Given the description of an element on the screen output the (x, y) to click on. 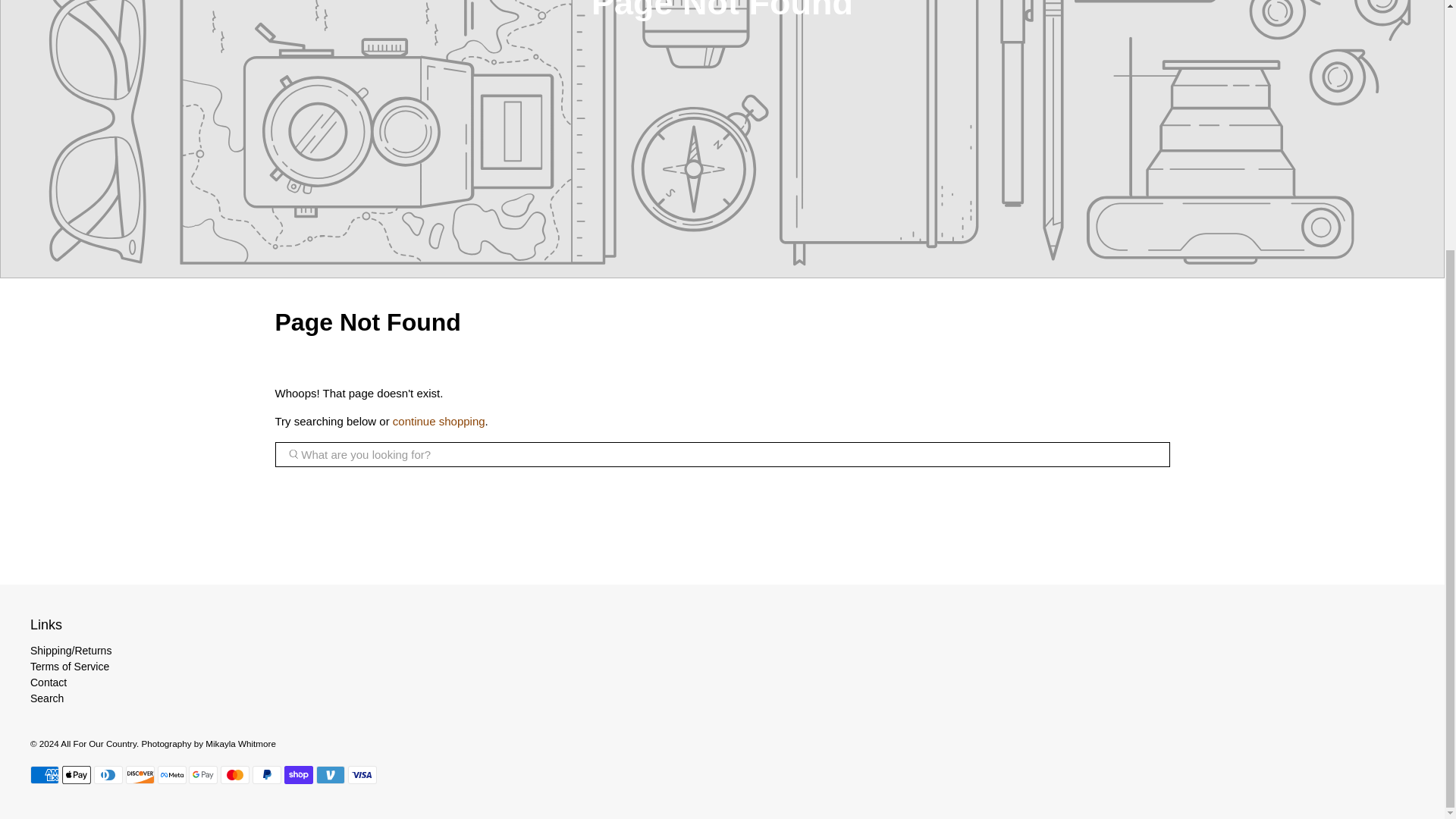
Mastercard (234, 774)
Meta Pay (171, 774)
PayPal (266, 774)
Visa (362, 774)
Diners Club (108, 774)
Google Pay (202, 774)
Venmo (330, 774)
Apple Pay (76, 774)
American Express (44, 774)
Shop Pay (298, 774)
Discover (139, 774)
